Given the description of an element on the screen output the (x, y) to click on. 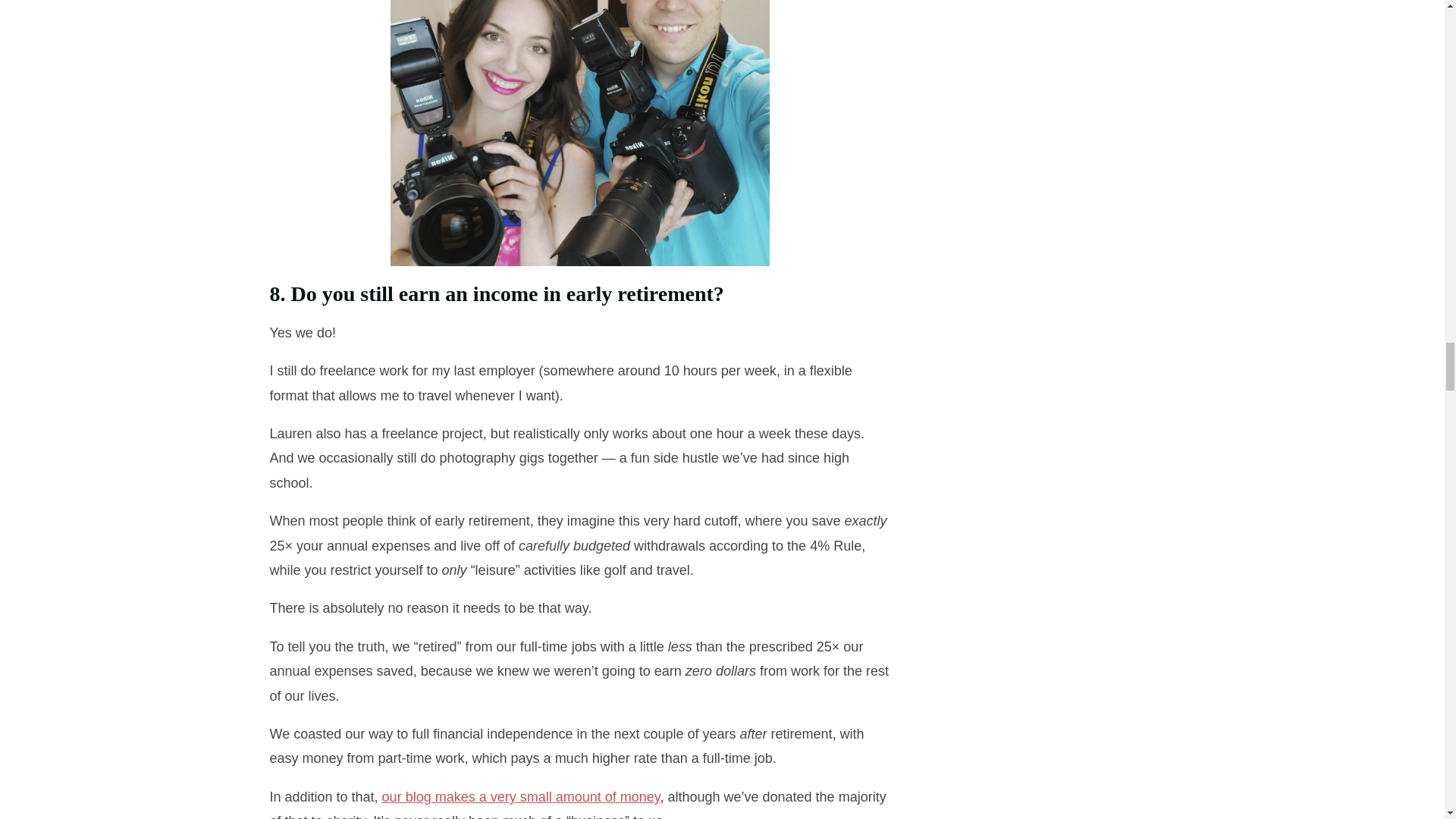
our blog makes a very small amount of money (521, 796)
